Given the description of an element on the screen output the (x, y) to click on. 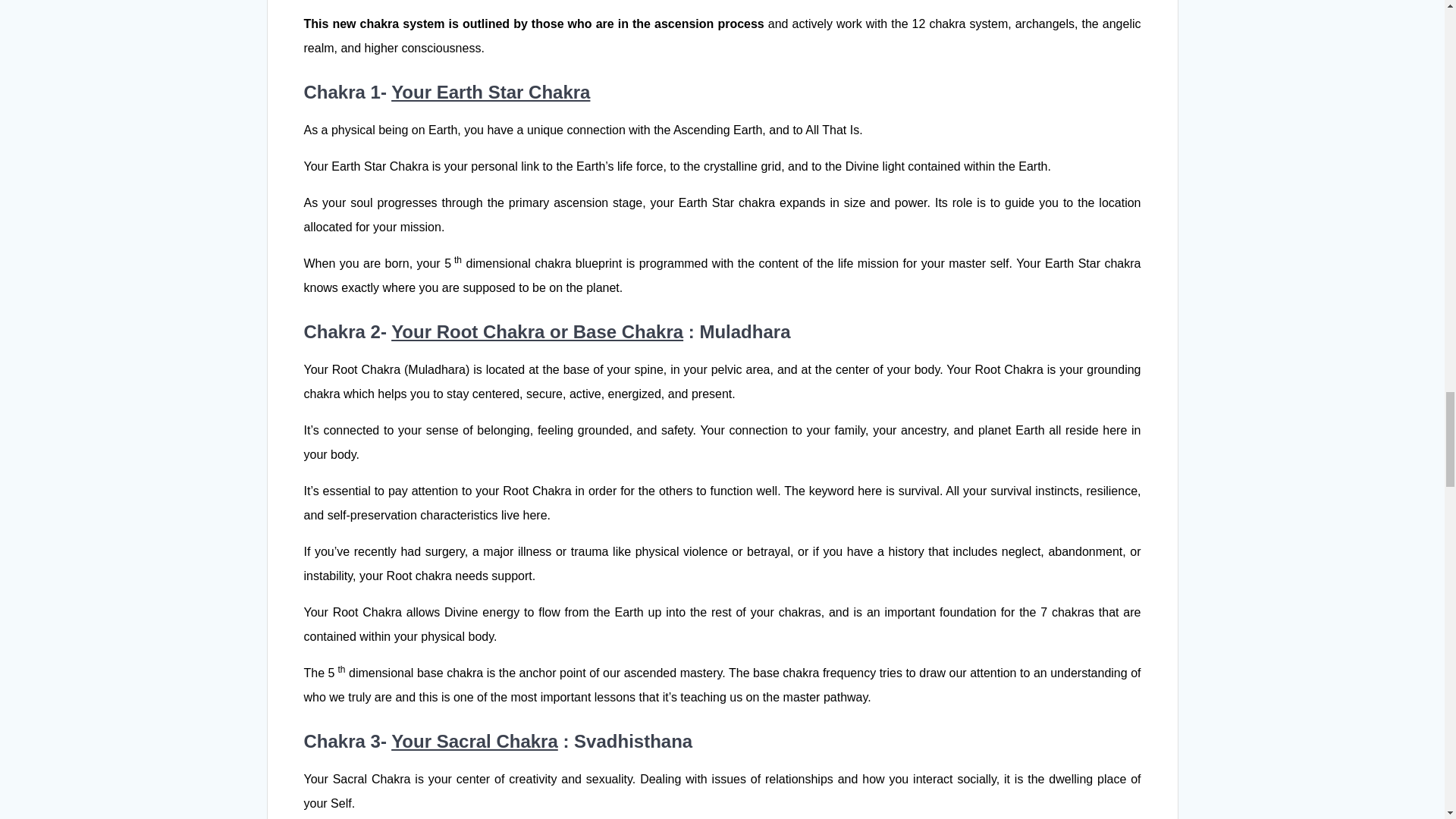
Your Earth Star Chakra (490, 91)
Your Root Chakra or Base Chakra (536, 331)
Your Sacral Chakra (474, 741)
